Given the description of an element on the screen output the (x, y) to click on. 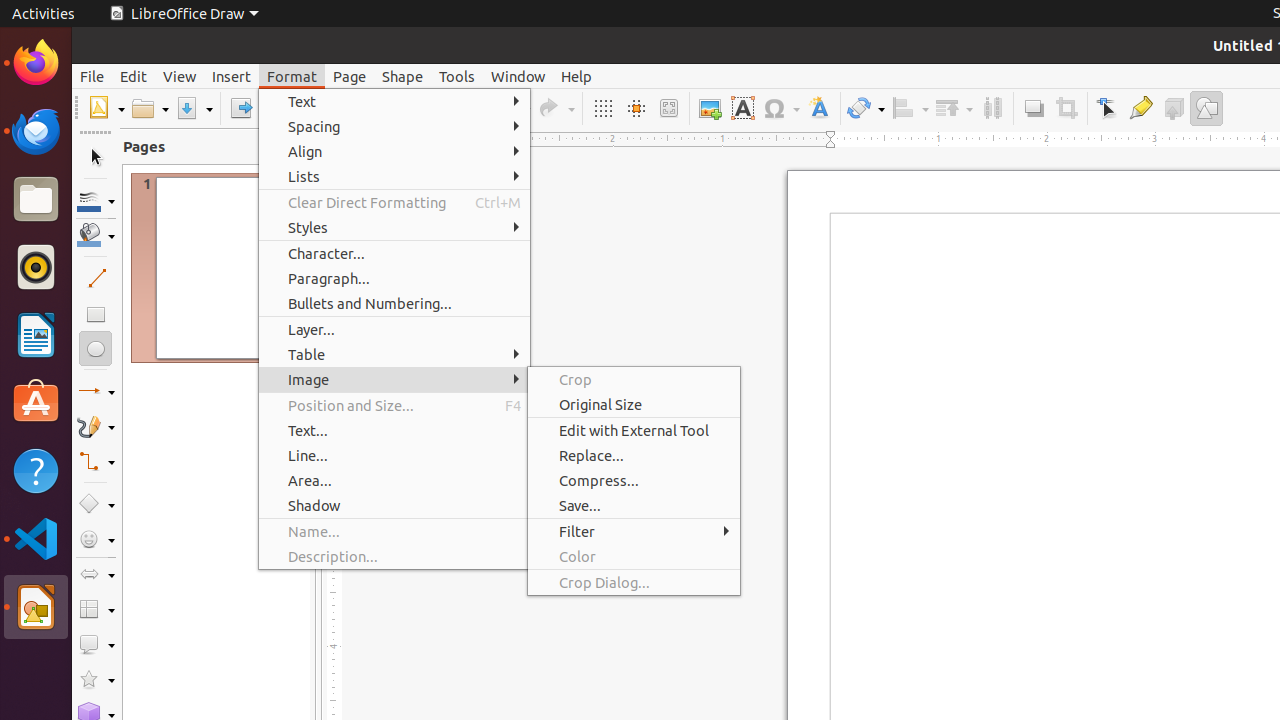
Crop Dialog... Element type: menu-item (634, 582)
Edit with External Tool Element type: menu-item (634, 430)
New Element type: push-button (106, 108)
Open Element type: push-button (150, 108)
Helplines While Moving Element type: toggle-button (635, 108)
